Given the description of an element on the screen output the (x, y) to click on. 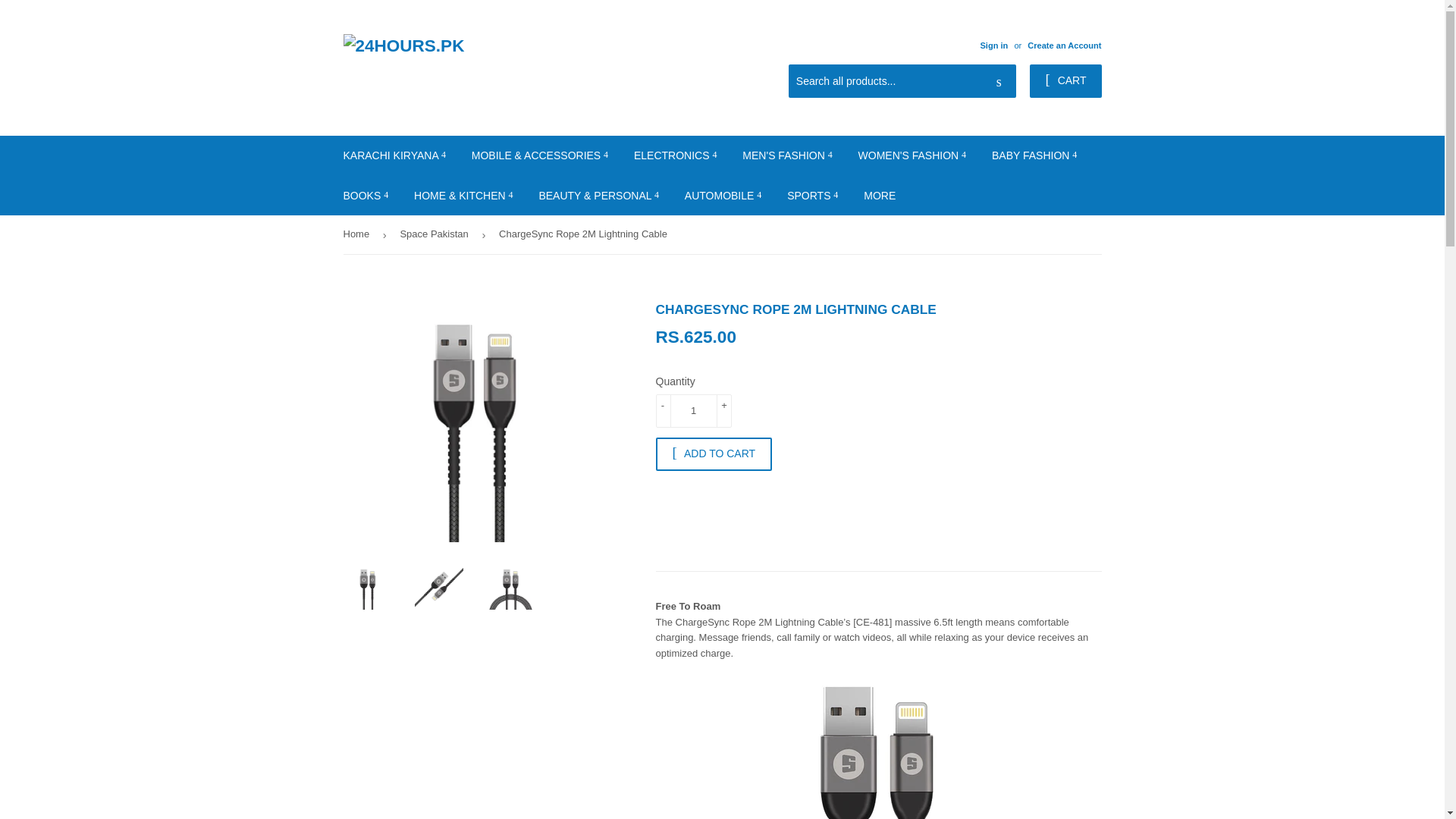
Create an Account (1063, 44)
Sign in (993, 44)
1 (692, 410)
CART (1064, 80)
Search (998, 81)
